Given the description of an element on the screen output the (x, y) to click on. 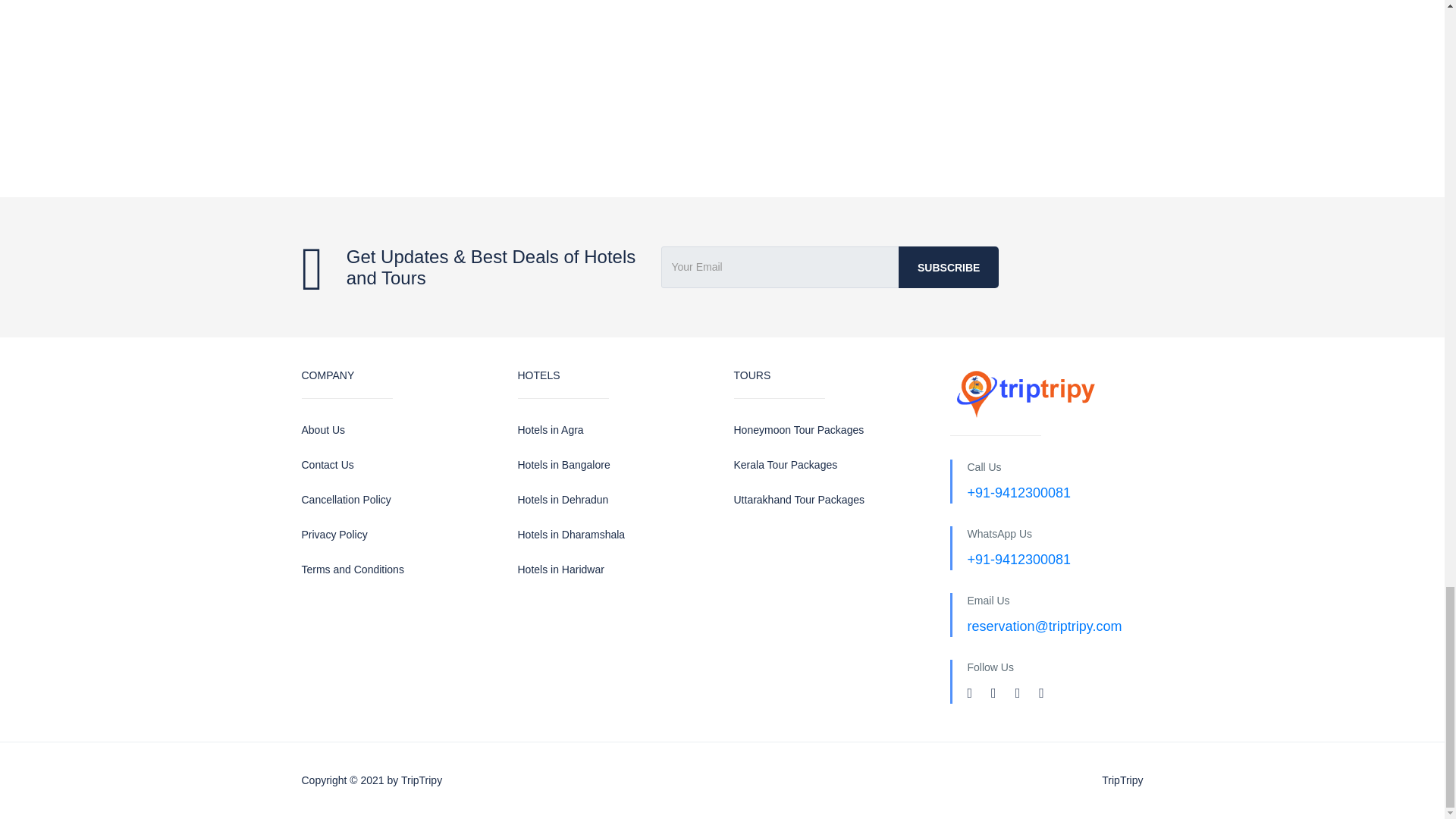
About Us (398, 430)
Contact Us (398, 465)
SUBSCRIBE (948, 267)
